Given the description of an element on the screen output the (x, y) to click on. 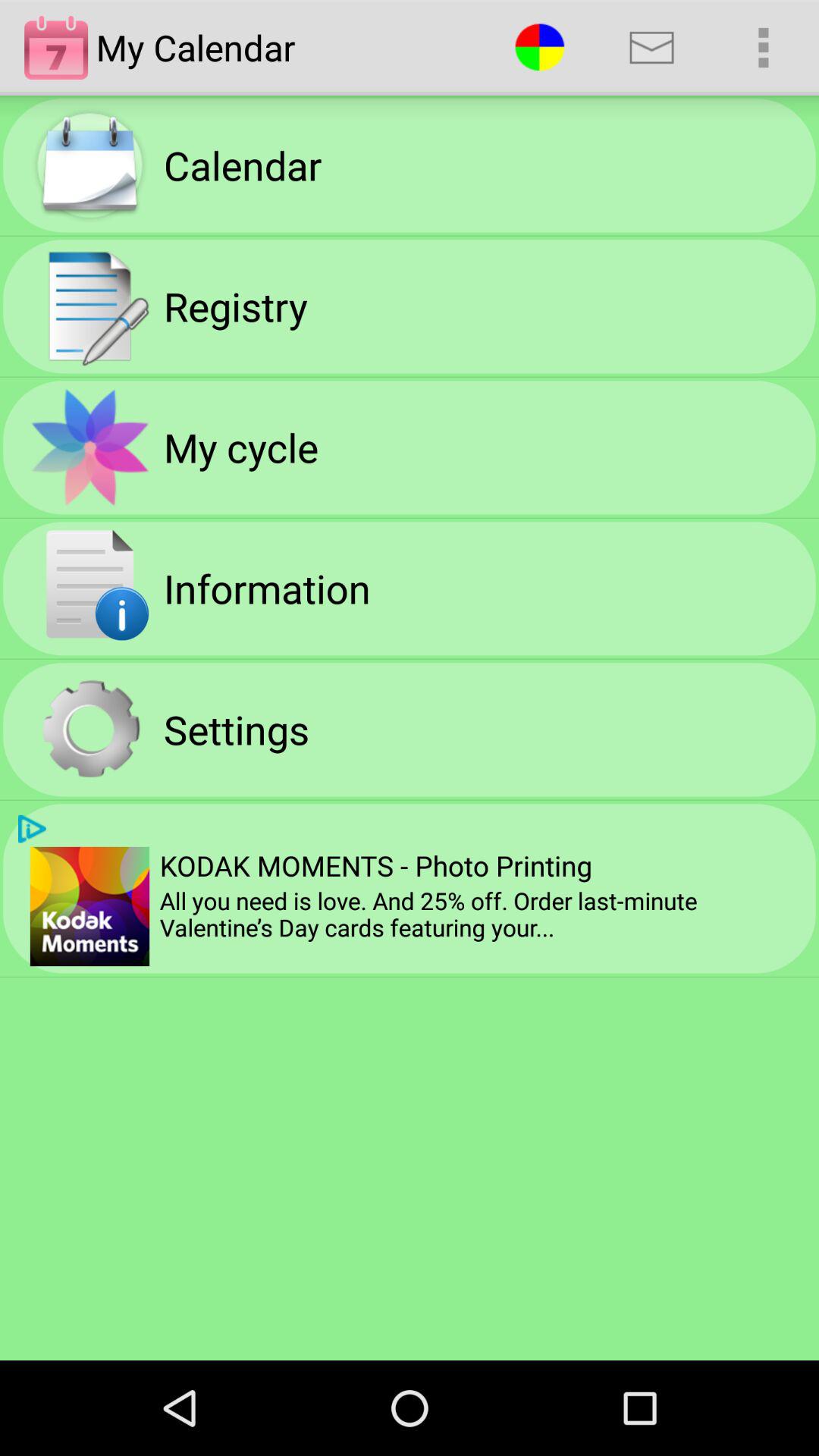
turn off the app next to the my calendar (540, 47)
